Given the description of an element on the screen output the (x, y) to click on. 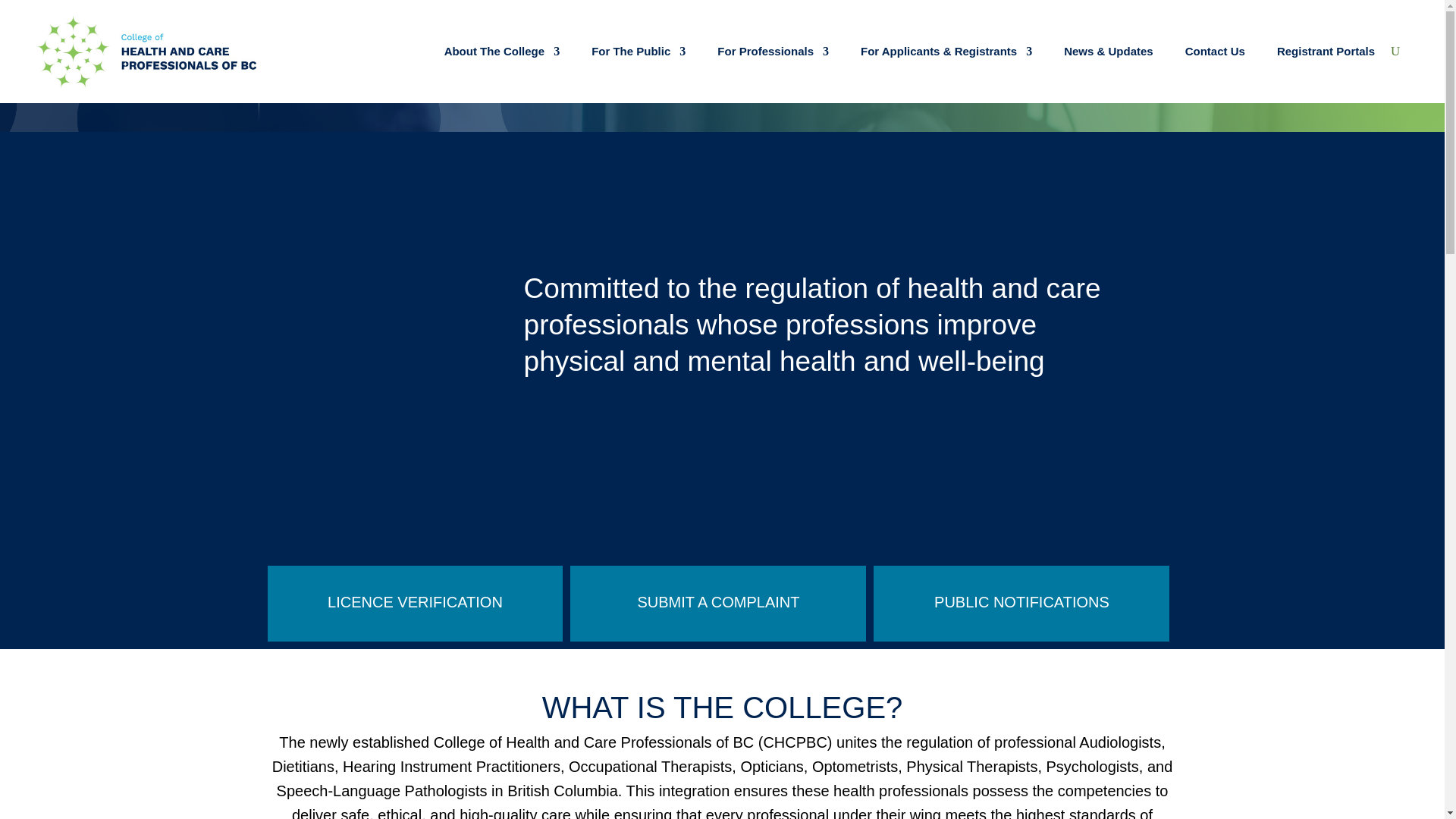
For The Public (638, 51)
About The College (502, 51)
For Professionals (772, 51)
Registrant Portals (1325, 51)
